Given the description of an element on the screen output the (x, y) to click on. 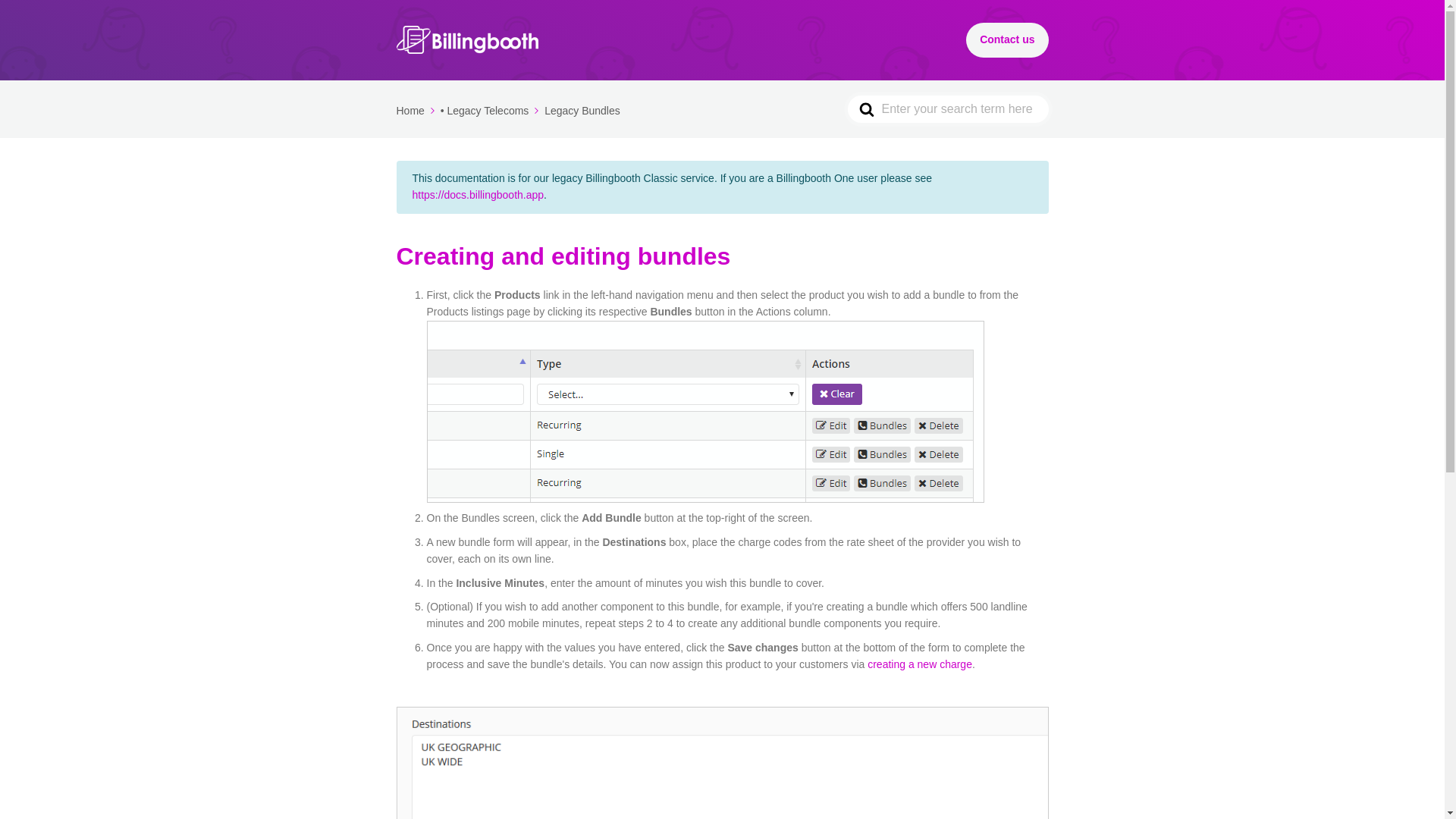
Legacy Bundles (582, 110)
Send a support email to Billingbooth (1007, 39)
Home (416, 110)
Contact us (1007, 39)
creating a new charge (919, 664)
